Given the description of an element on the screen output the (x, y) to click on. 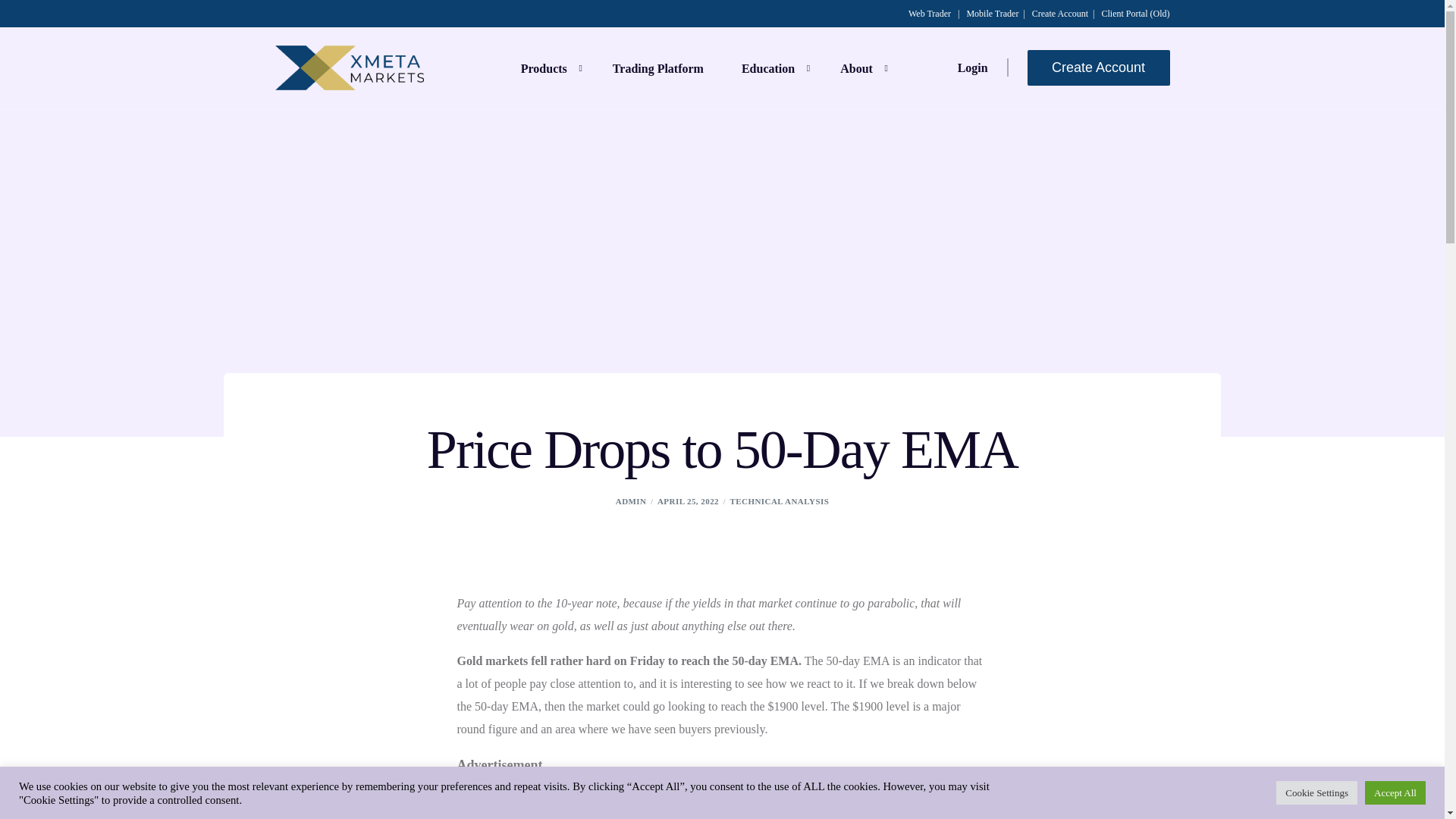
About (860, 67)
Products (548, 67)
Trading Platform (658, 67)
Create Account (1059, 13)
Web Trader (929, 13)
Education (771, 67)
Posts by admin (630, 501)
Mobile Trader (991, 13)
